Given the description of an element on the screen output the (x, y) to click on. 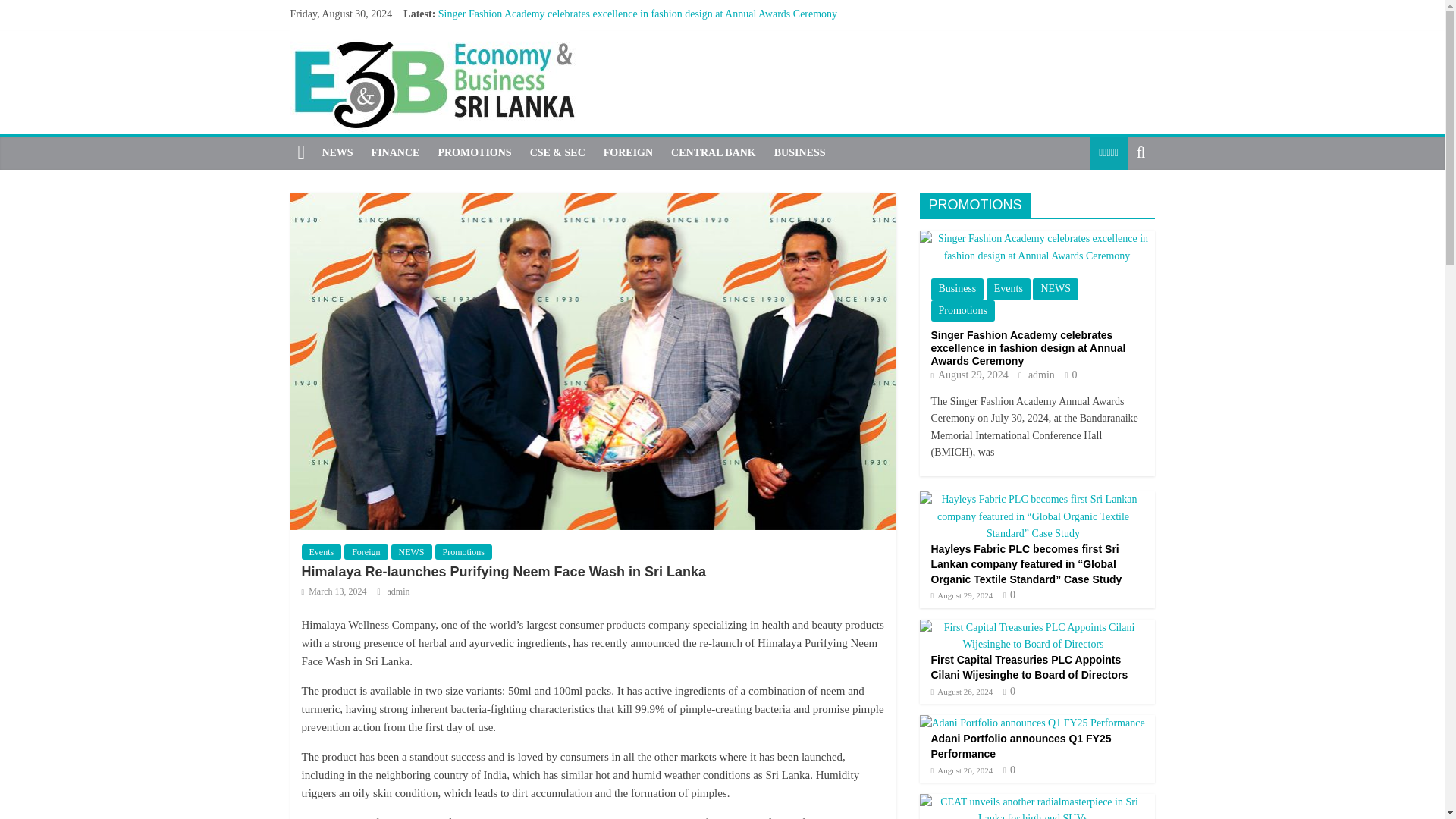
Promotions (963, 310)
Adani Portfolio announces Q1 FY25 Performance (544, 64)
March 13, 2024 (333, 591)
Adani Portfolio announces Q1 FY25 Performance (544, 64)
Business (957, 288)
NEWS (1055, 288)
August 29, 2024 (970, 374)
Events (321, 551)
